Given the description of an element on the screen output the (x, y) to click on. 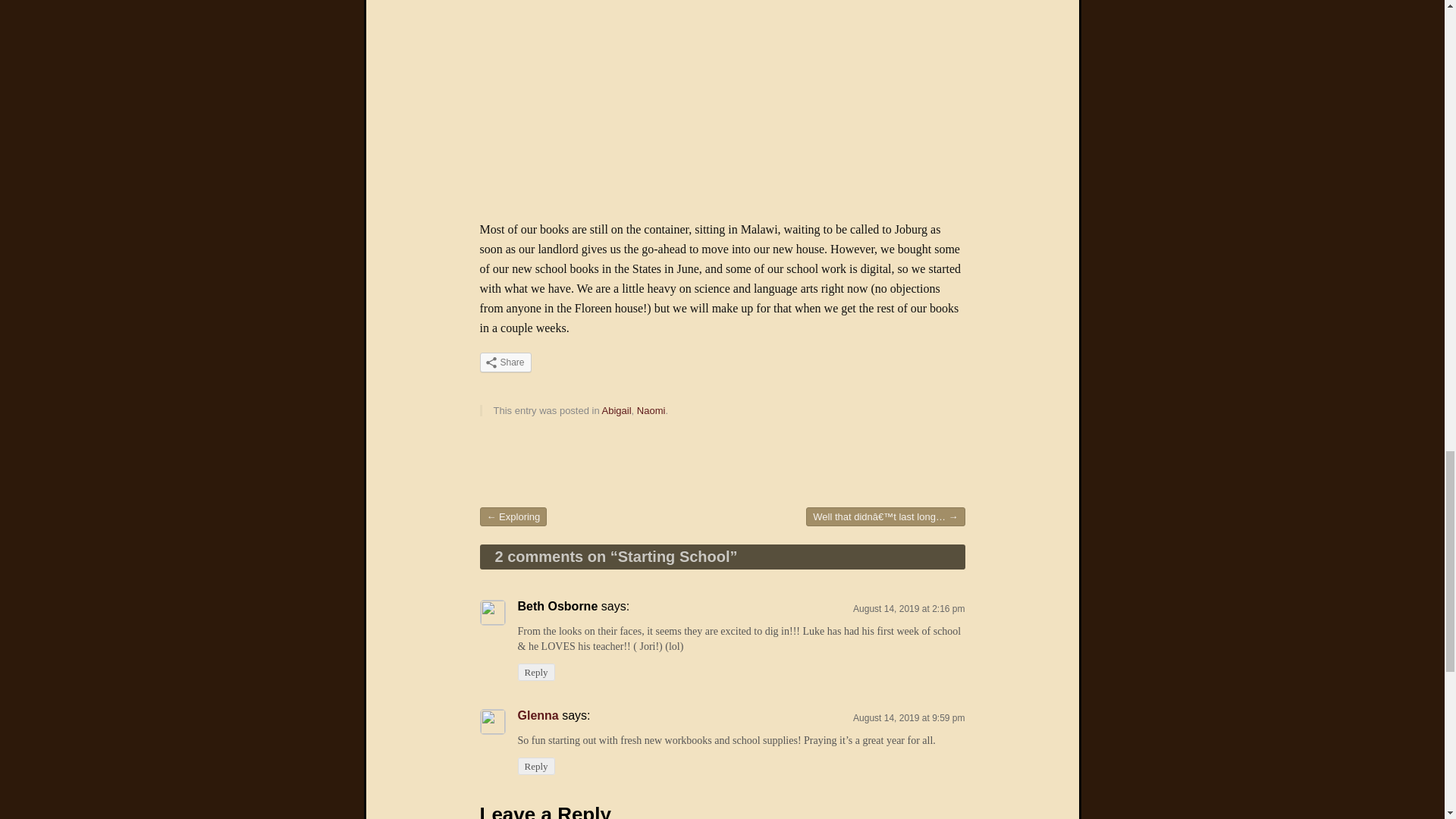
Abigail (616, 410)
Share (505, 362)
Reply (535, 765)
August 14, 2019 at 9:59 pm (908, 717)
Reply (535, 671)
Glenna (536, 715)
August 14, 2019 at 2:16 pm (908, 608)
Naomi (651, 410)
